Given the description of an element on the screen output the (x, y) to click on. 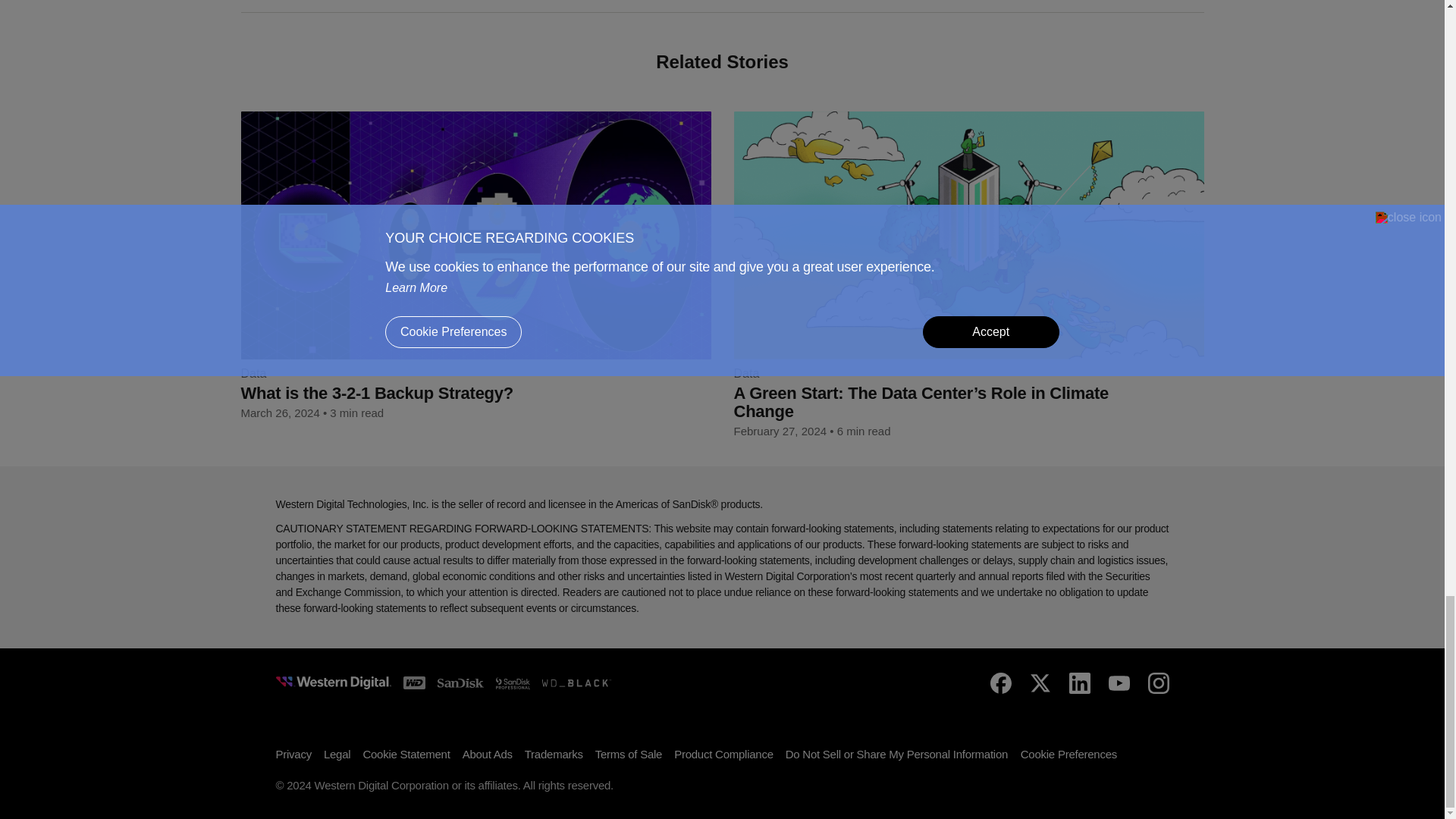
What is the 3-2-1 Backup Strategy?  (452, 393)
Data (253, 373)
Data (746, 373)
